Given the description of an element on the screen output the (x, y) to click on. 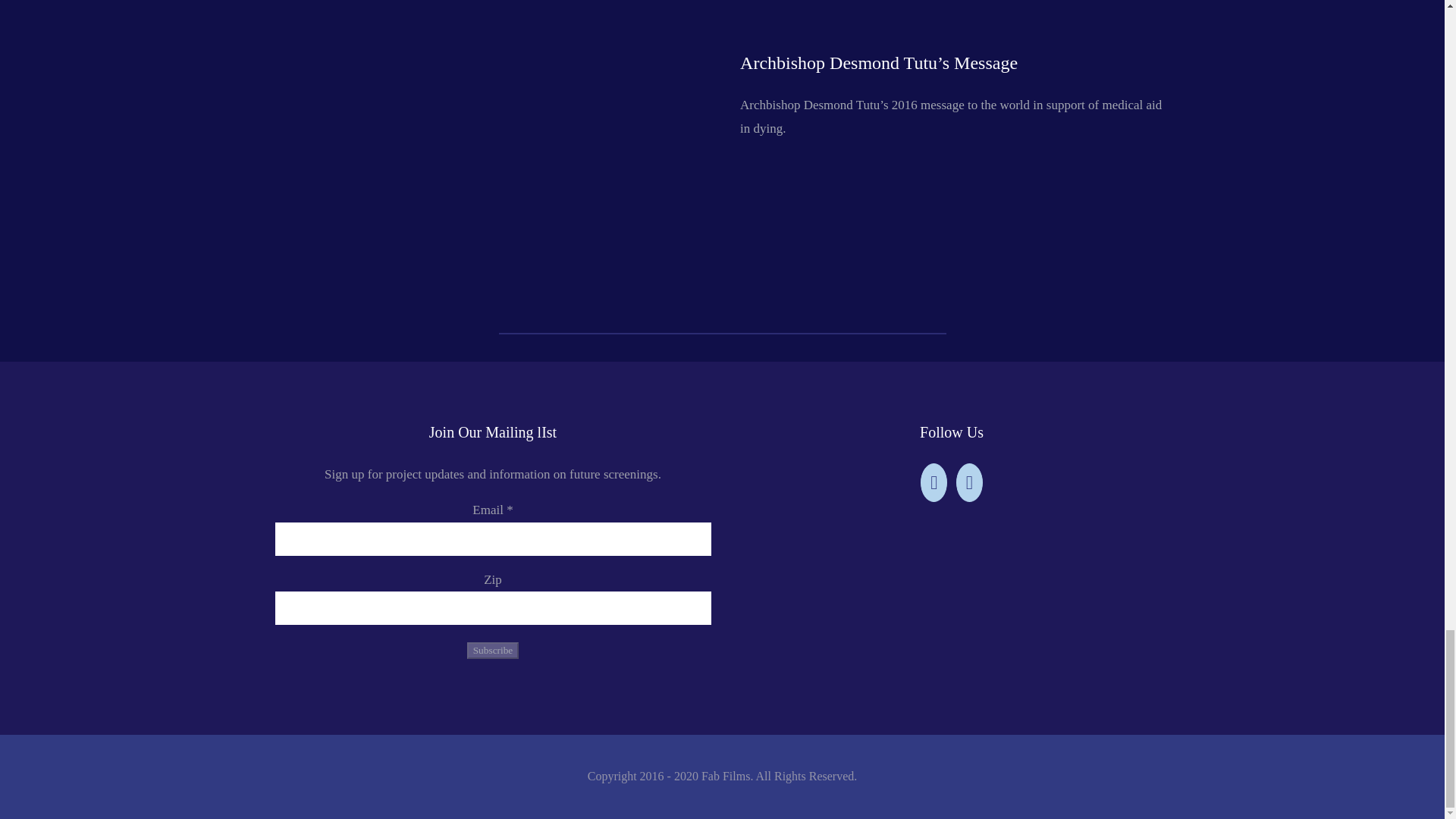
Subscribe (493, 650)
Vimeo video player 7 (502, 107)
Subscribe (493, 650)
Vimeo video player 8 (502, 426)
